Given the description of an element on the screen output the (x, y) to click on. 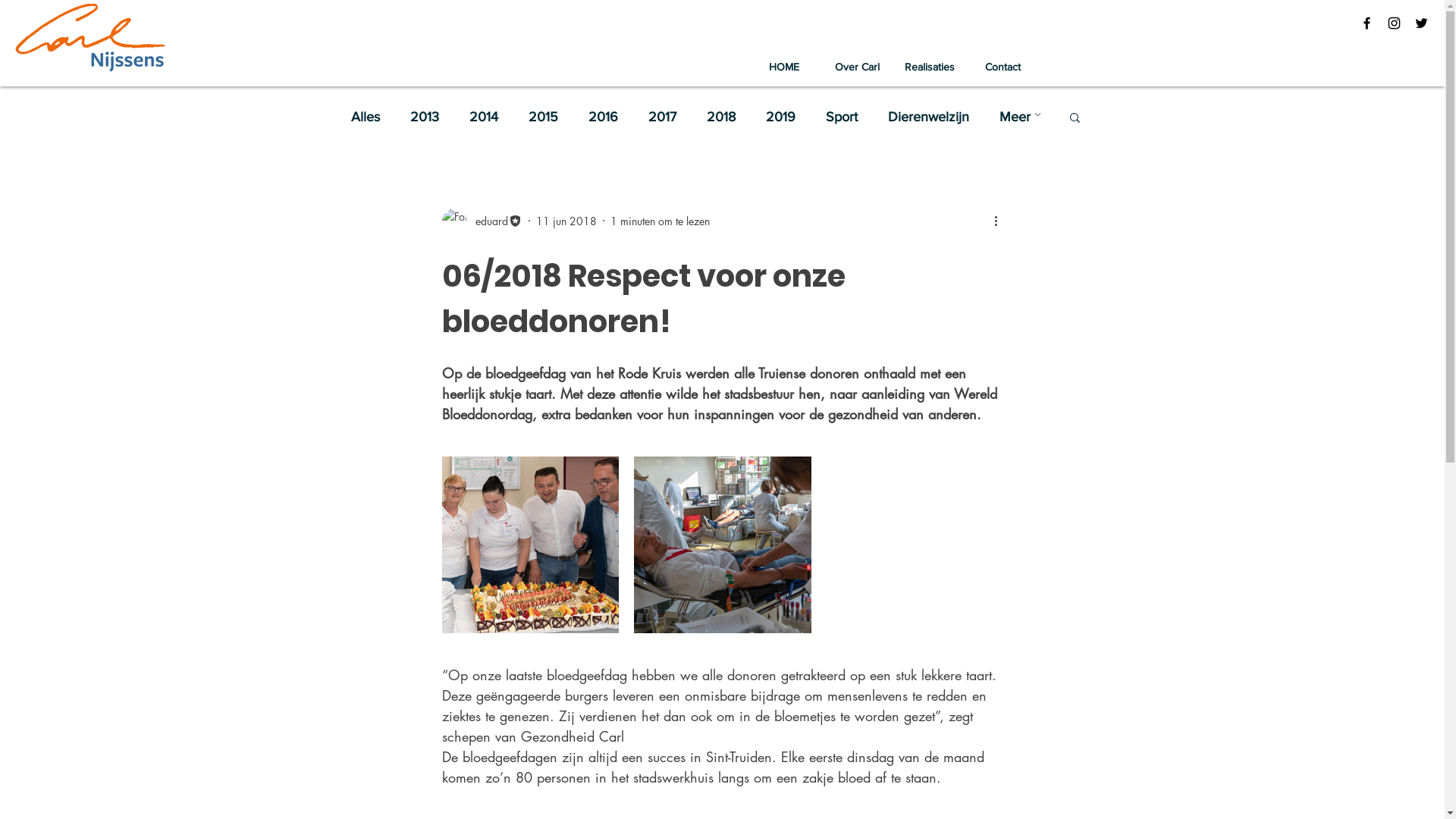
Dierenwelzijn Element type: text (927, 116)
2015 Element type: text (542, 116)
Realisaties Element type: text (929, 66)
HOME Element type: text (783, 66)
2018 Element type: text (720, 116)
2019 Element type: text (780, 116)
Over Carl Element type: text (856, 66)
Alles Element type: text (364, 116)
2016 Element type: text (603, 116)
Contact Element type: text (1002, 66)
2014 Element type: text (482, 116)
Sport Element type: text (840, 116)
2017 Element type: text (661, 116)
2013 Element type: text (423, 116)
